Given the description of an element on the screen output the (x, y) to click on. 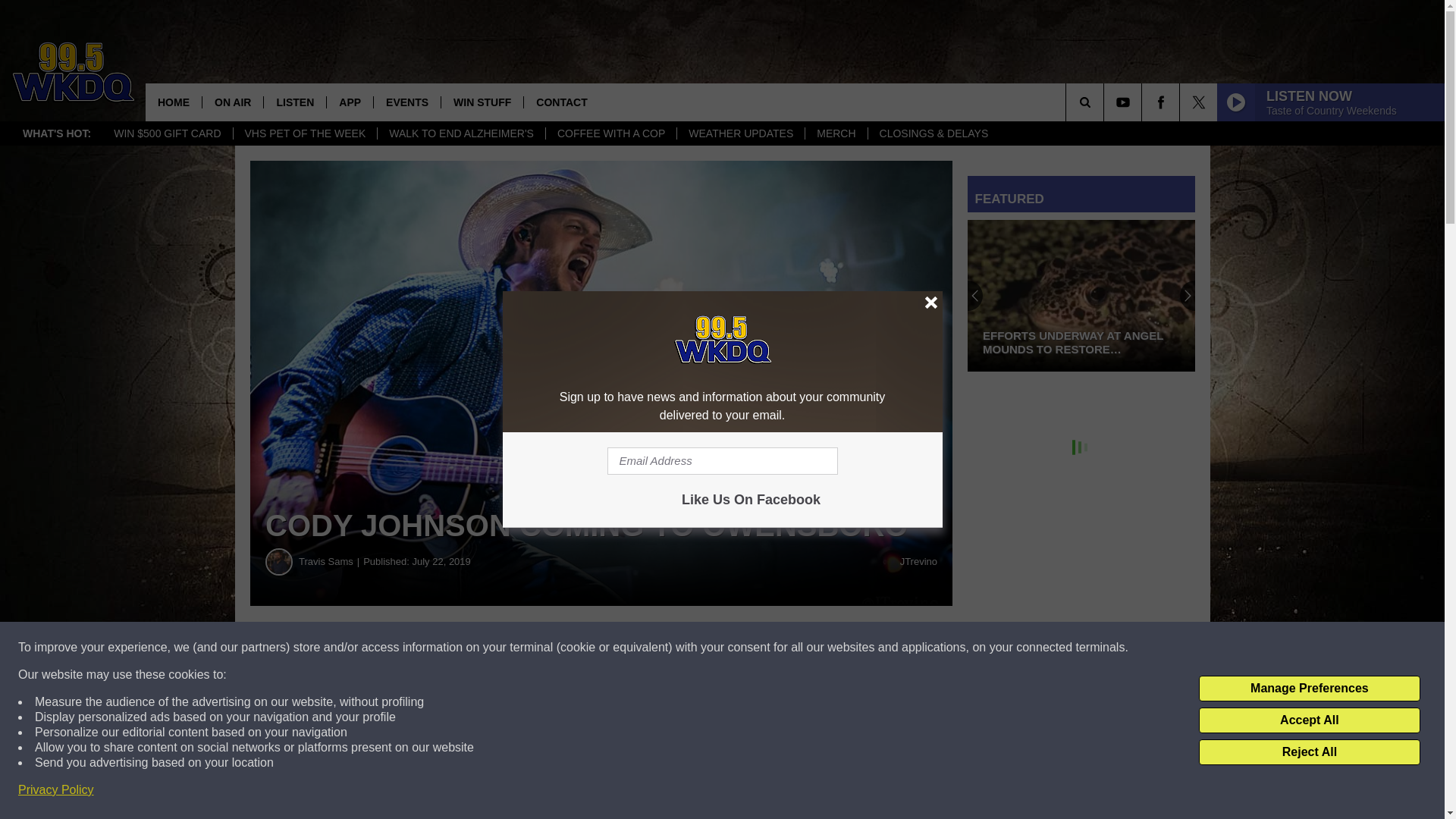
Share on Facebook (460, 647)
SEARCH (1106, 102)
Reject All (1309, 751)
WEATHER UPDATES (741, 133)
SEARCH (1106, 102)
COFFEE WITH A COP (610, 133)
WHAT'S HOT: (56, 133)
EVENTS (406, 102)
Share on Twitter (741, 647)
WALK TO END ALZHEIMER'S (460, 133)
VHS PET OF THE WEEK (304, 133)
LISTEN (294, 102)
Privacy Policy (55, 789)
APP (349, 102)
MERCH (835, 133)
